Given the description of an element on the screen output the (x, y) to click on. 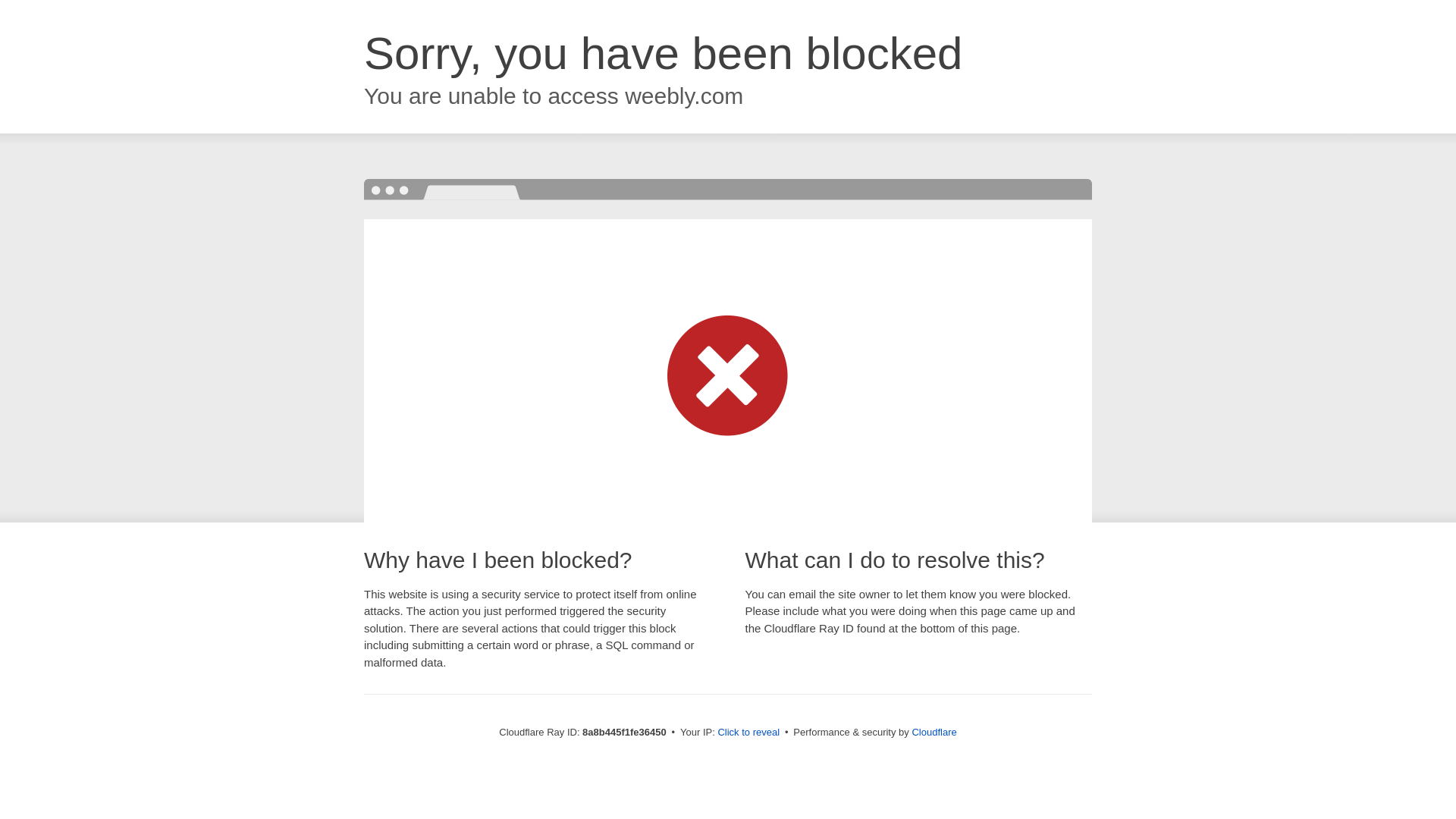
Click to reveal (747, 732)
Cloudflare (933, 731)
